Given the description of an element on the screen output the (x, y) to click on. 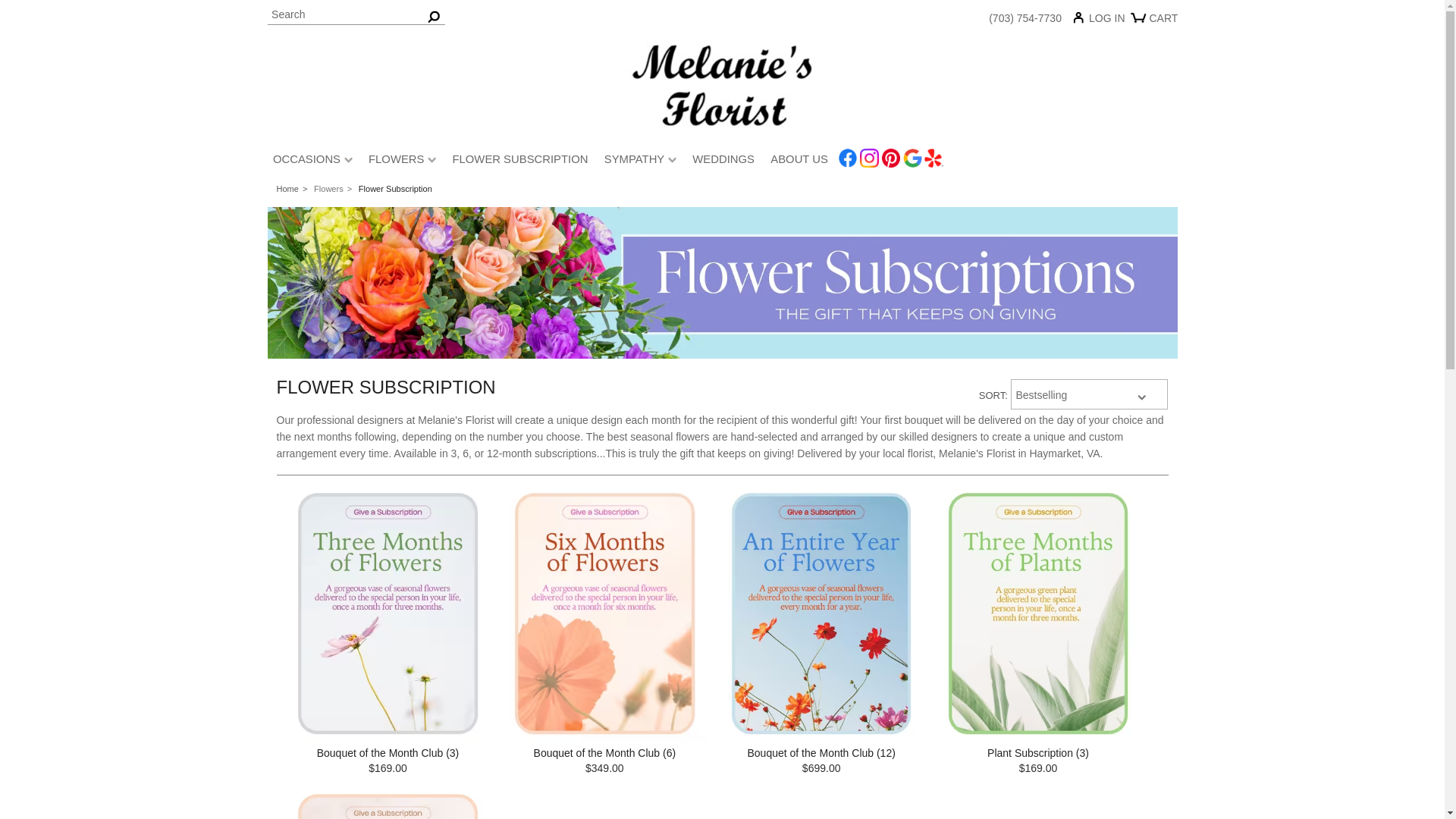
CART (1156, 23)
LOG IN (1103, 21)
log In (1103, 21)
SYMPATHY (639, 161)
Search (355, 14)
Go (434, 15)
FLOWER SUBSCRIPTION (520, 161)
OCCASIONS (312, 161)
FLOWERS (402, 161)
Sort By (1088, 394)
